Given the description of an element on the screen output the (x, y) to click on. 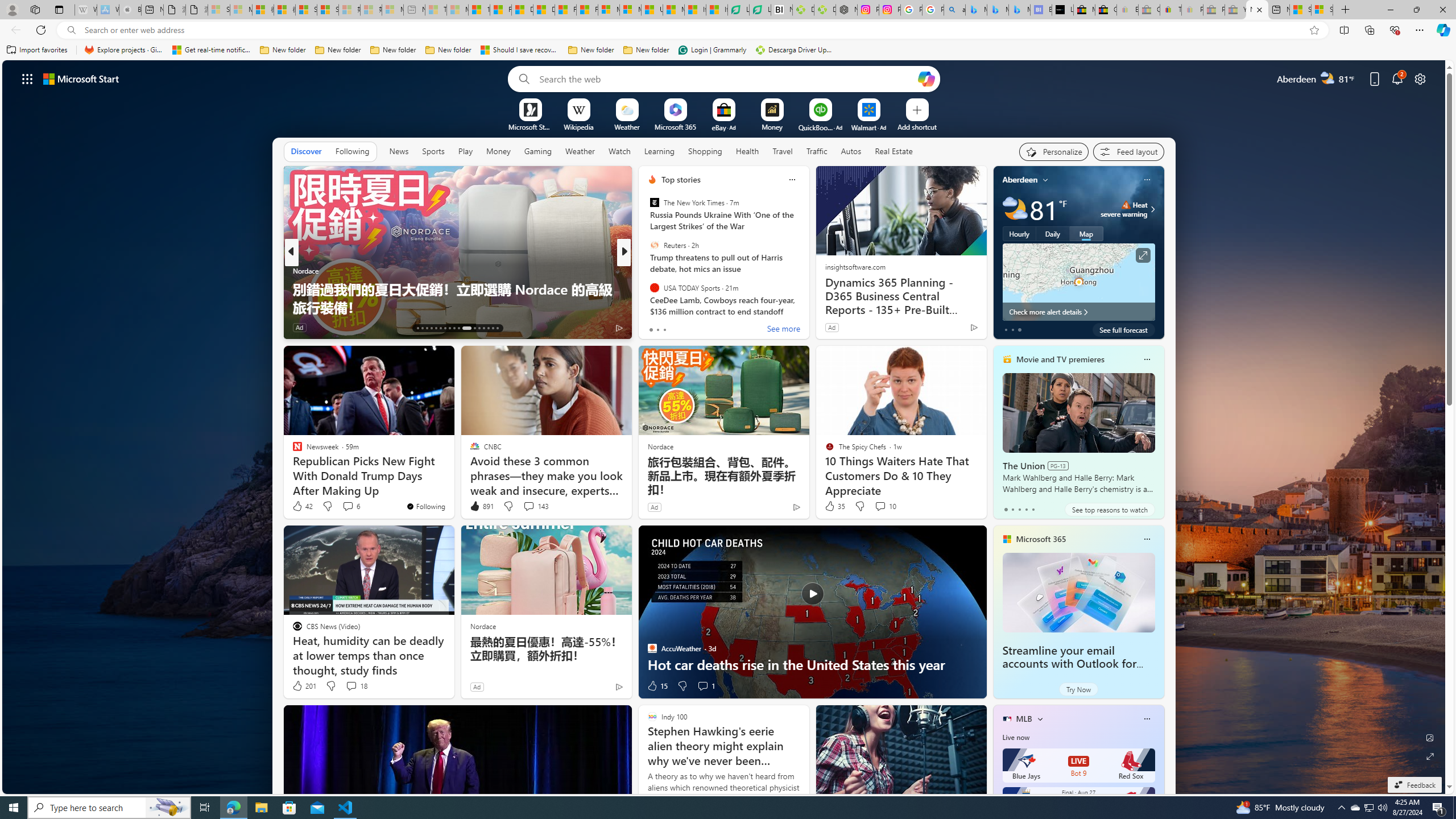
Buy iPad - Apple - Sleeping (130, 9)
Class: weather-arrow-glyph (1152, 208)
Descarga Driver Updater (824, 9)
Threats and offensive language policy | eBay (1170, 9)
AutomationID: tab-32 (492, 328)
View comments 10 Comment (879, 505)
AutomationID: tab-14 (422, 328)
Sports (432, 151)
Autos (850, 151)
View comments 6 Comment (350, 505)
PsychLove (647, 288)
insightsoftware.com (854, 266)
